Given the description of an element on the screen output the (x, y) to click on. 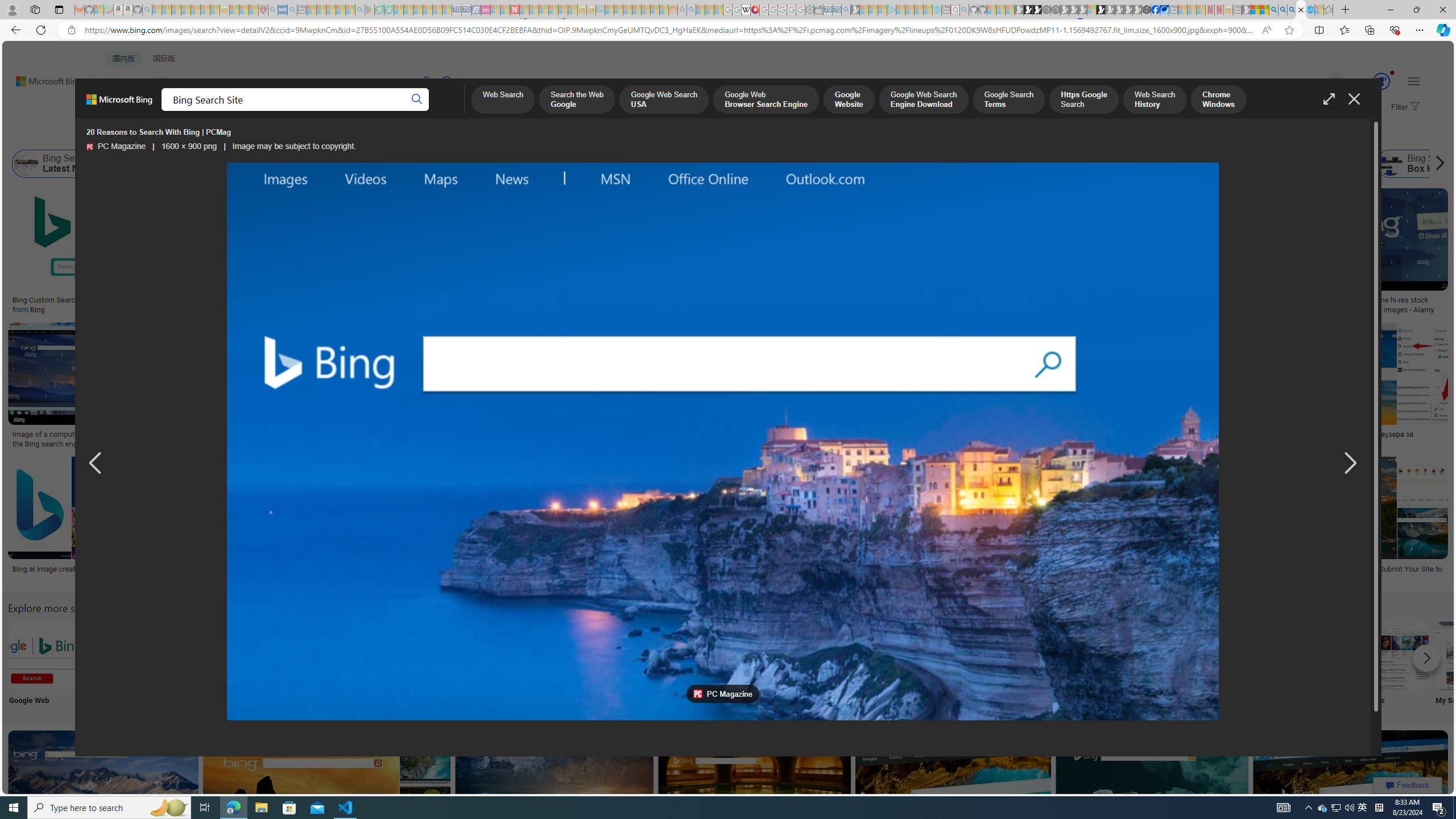
Bing Intelligent Search (1093, 654)
Bing Custom Search: A New Site Search Solution from BingSave (98, 252)
Next image result (1349, 463)
Full screen (1328, 99)
Web Search (502, 100)
Hoodies (802, 261)
Scroll right (1436, 163)
Internet Explorer Bing Search Internet Explorer (192, 665)
New Bing Image Search (1169, 654)
